Given the description of an element on the screen output the (x, y) to click on. 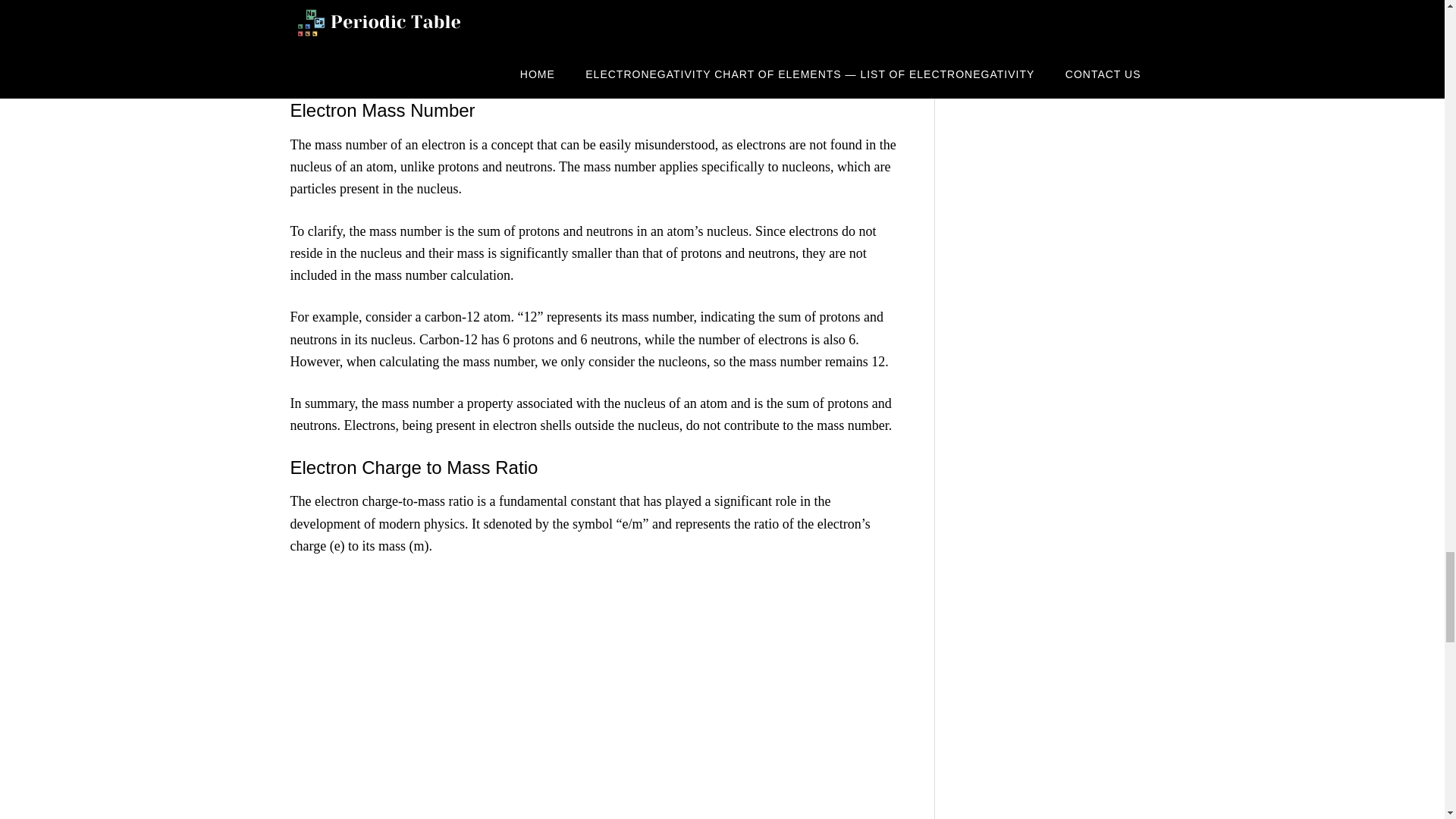
What are the Difference Between Charge and Electron (473, 68)
